Given the description of an element on the screen output the (x, y) to click on. 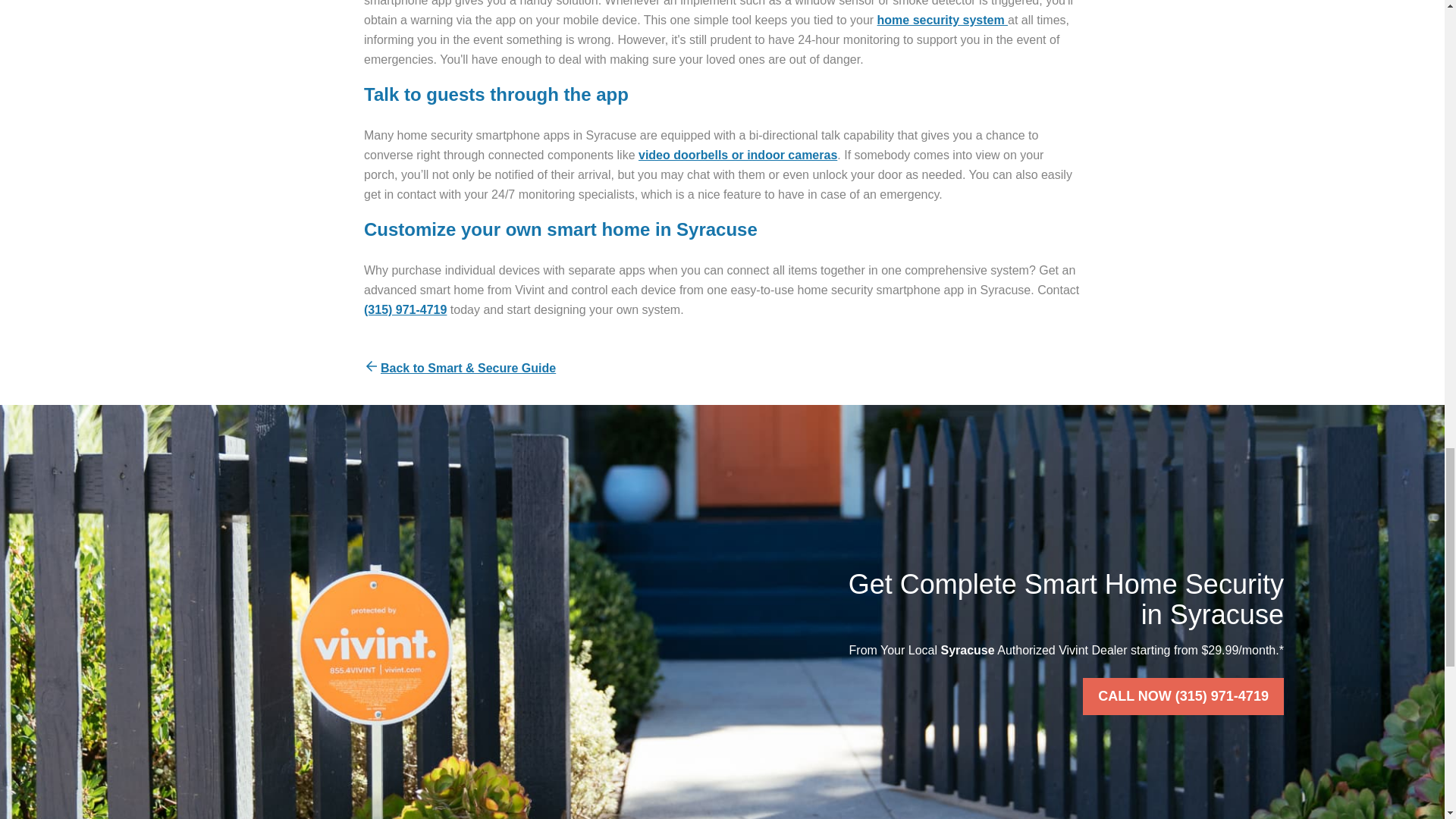
video doorbells or indoor cameras (738, 154)
Doorbell cameras in Syracuse (738, 154)
Home security in Syracuse (943, 19)
home security system (943, 19)
